Given the description of an element on the screen output the (x, y) to click on. 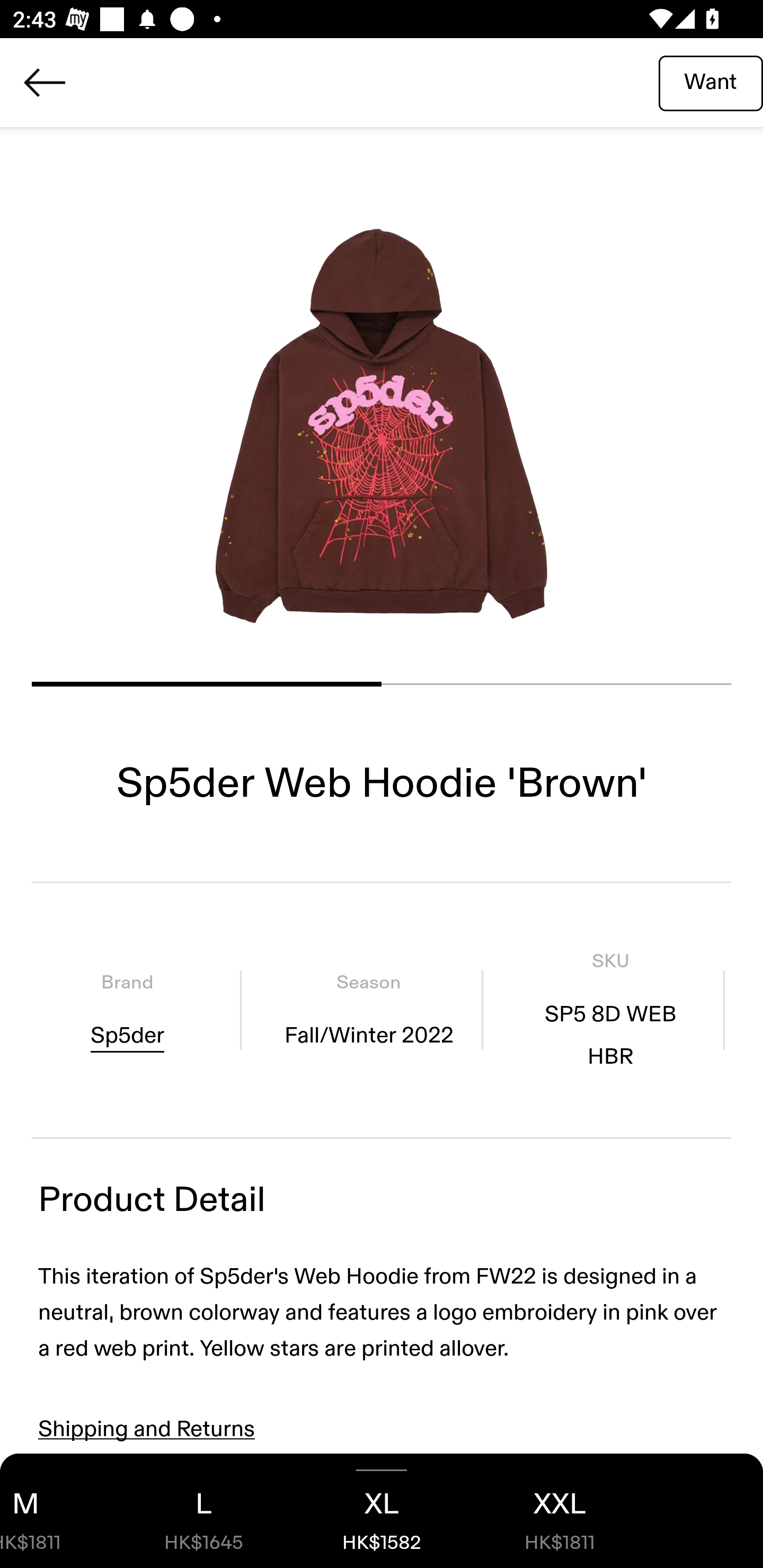
Want (710, 82)
Brand Sp5der (126, 1009)
Season Fall/Winter 2022 (368, 1009)
SKU SP5 8D WEB HBR (609, 1009)
Shipping and Returns (146, 1429)
M HK$1811 (57, 1510)
L HK$1645 (203, 1510)
XL HK$1582 (381, 1510)
XXL HK$1811 (559, 1510)
